Given the description of an element on the screen output the (x, y) to click on. 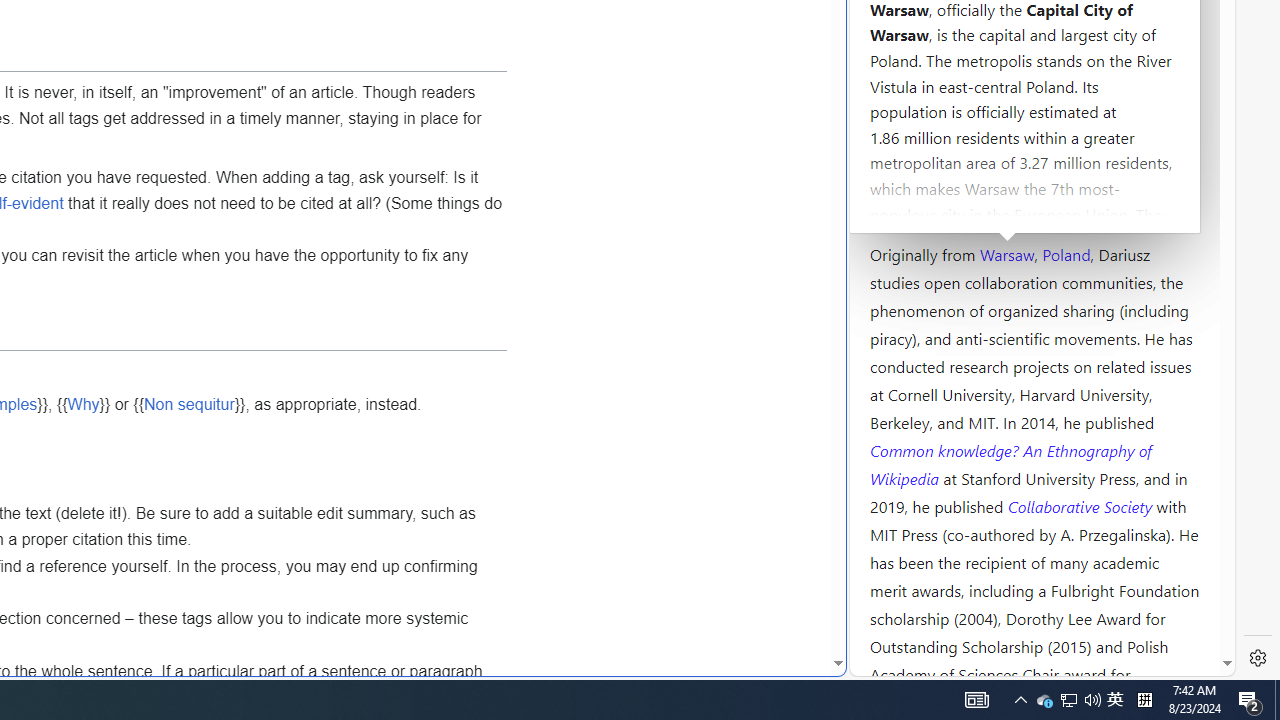
Warsaw (1006, 253)
Non sequitur (189, 404)
Harvard University (934, 205)
Common knowledge? An Ethnography of Wikipedia (1010, 463)
